Given the description of an element on the screen output the (x, y) to click on. 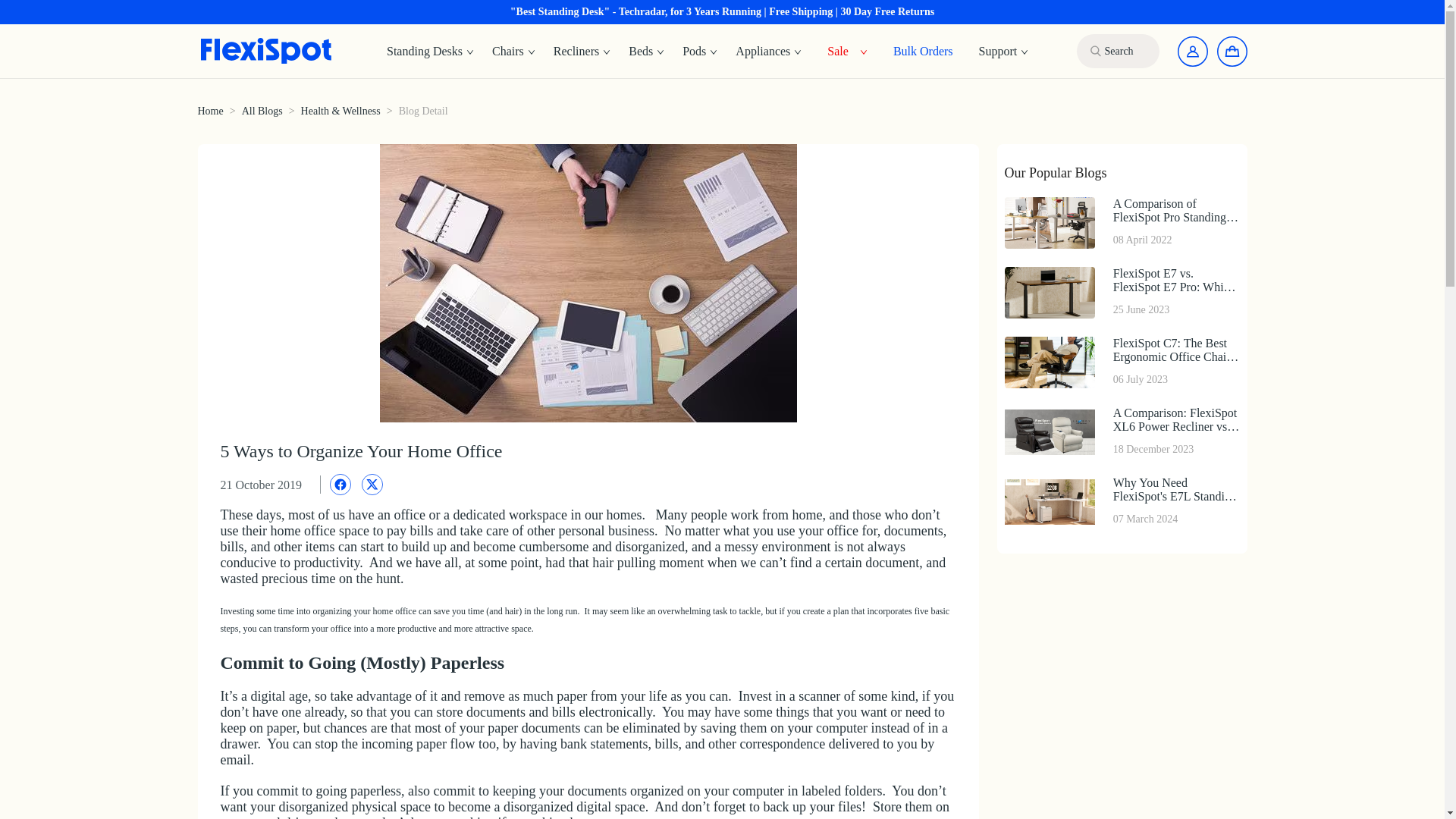
All Blogs (261, 111)
Bulk Orders (922, 50)
Recliners (581, 51)
Chairs (513, 51)
Appliances (1121, 501)
Pods (768, 51)
Beds (700, 51)
Sale (646, 51)
Home (837, 50)
Standing Desks (209, 111)
